Given the description of an element on the screen output the (x, y) to click on. 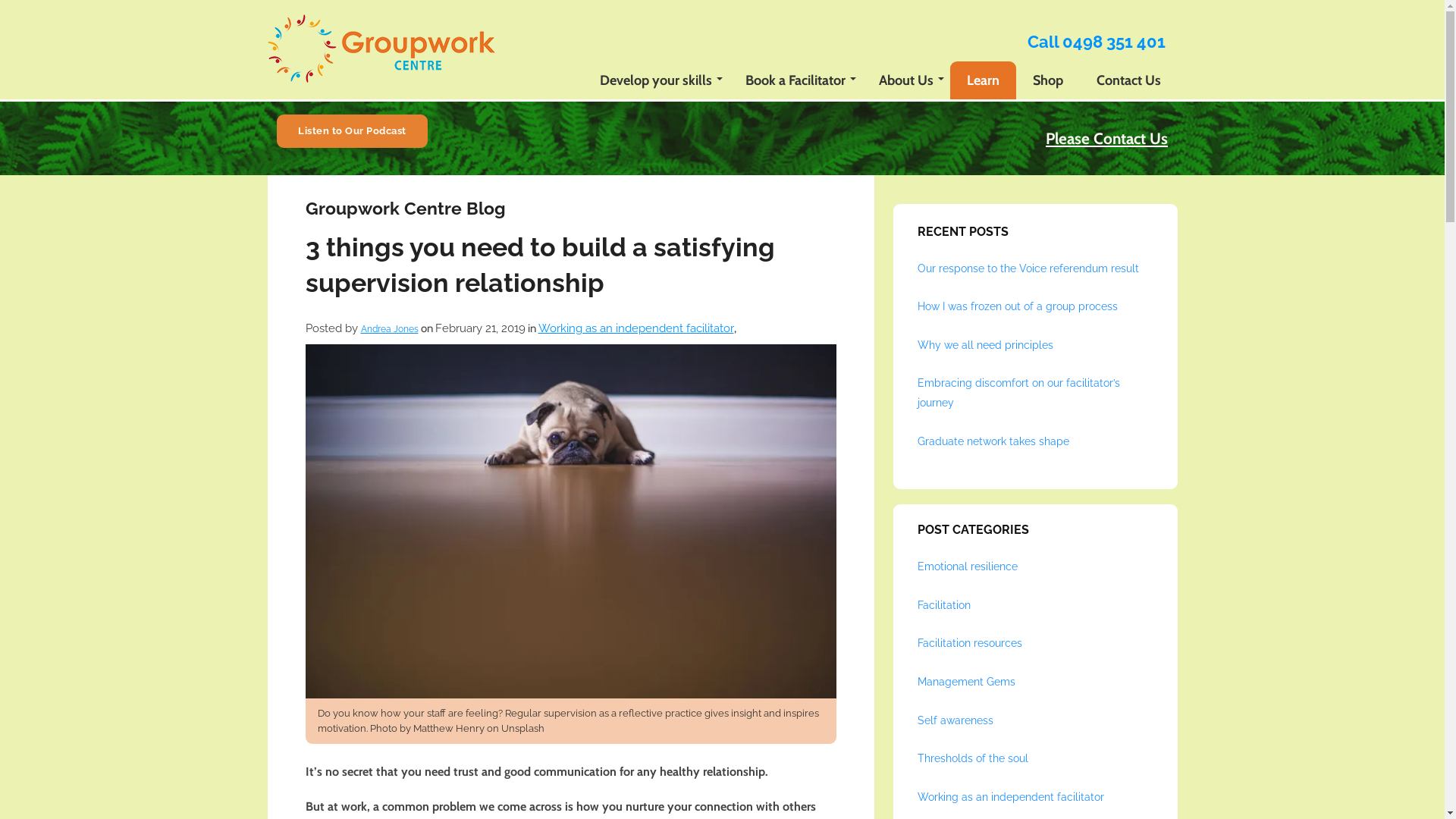
Facilitation Element type: text (943, 605)
Our response to the Voice referendum result Element type: text (1028, 268)
Thresholds of the soul Element type: text (972, 758)
Working as an independent facilitator Element type: text (636, 328)
Andrea Jones Element type: text (389, 328)
Shop Element type: text (1047, 80)
About Us Element type: text (905, 80)
Contact Us Element type: text (1128, 80)
Why we all need principles Element type: text (985, 344)
Management Gems Element type: text (966, 681)
Develop your skills Element type: text (655, 80)
Self awareness Element type: text (955, 720)
RECENT POSTS Element type: text (1035, 238)
Working as an independent facilitator Element type: text (1010, 796)
Emotional resilience Element type: text (967, 566)
Graduate network takes shape Element type: text (993, 441)
Facilitation resources Element type: text (969, 643)
How I was frozen out of a group process Element type: text (1017, 306)
Learn Element type: text (982, 80)
Book a Facilitator Element type: text (794, 80)
Please Contact Us Element type: text (1106, 138)
Listen to Our Podcast Element type: text (351, 130)
Call 0498 351 401 Element type: text (1095, 41)
